Given the description of an element on the screen output the (x, y) to click on. 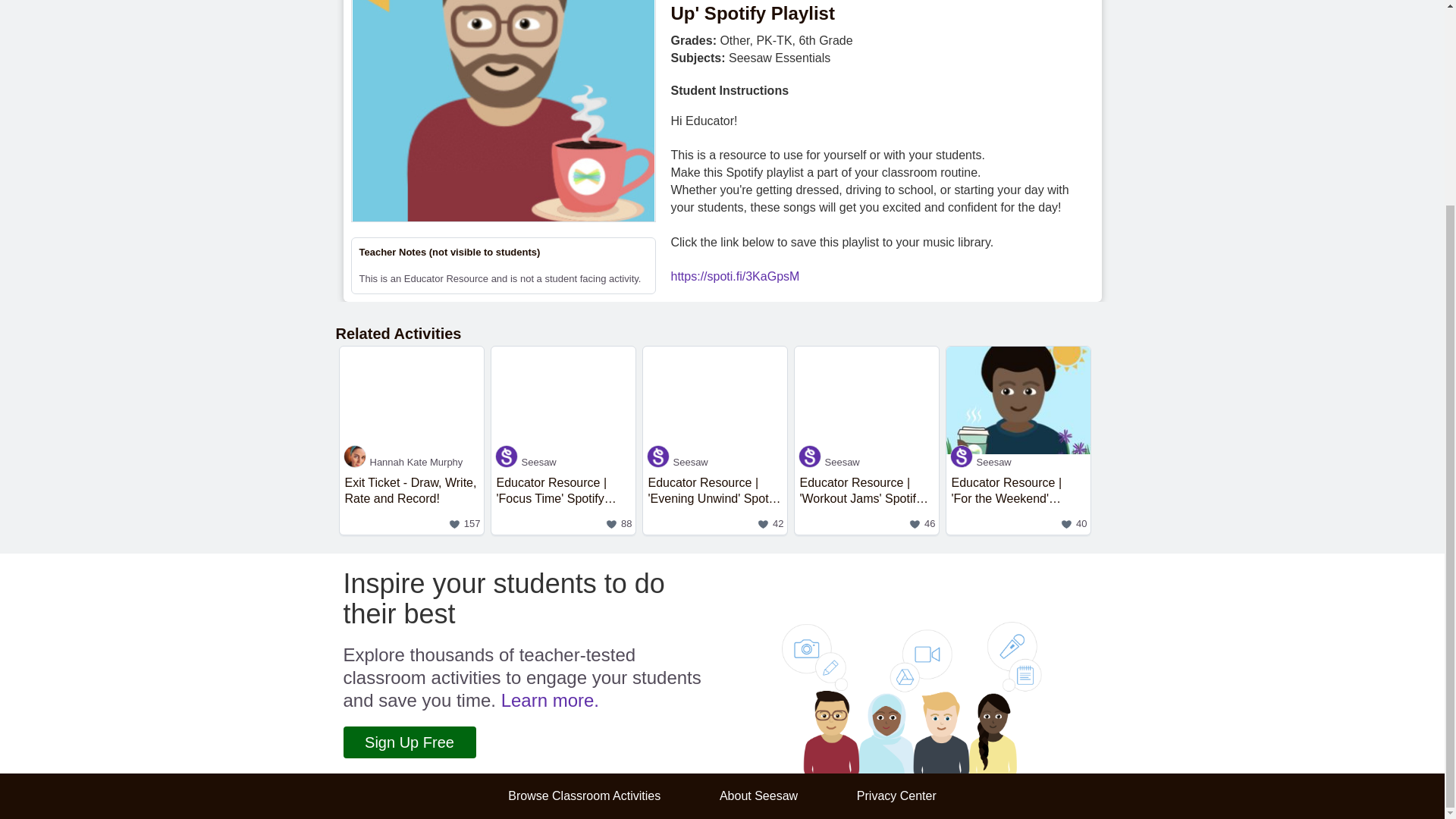
Privacy Center (895, 796)
Seesaw (866, 462)
Seesaw (563, 462)
Learn more. (549, 700)
Hannah Kate Murphy (411, 462)
Seesaw (715, 462)
Sign Up Free (411, 502)
Browse Classroom Activities (409, 742)
About Seesaw (584, 796)
Seesaw (758, 796)
